Given the description of an element on the screen output the (x, y) to click on. 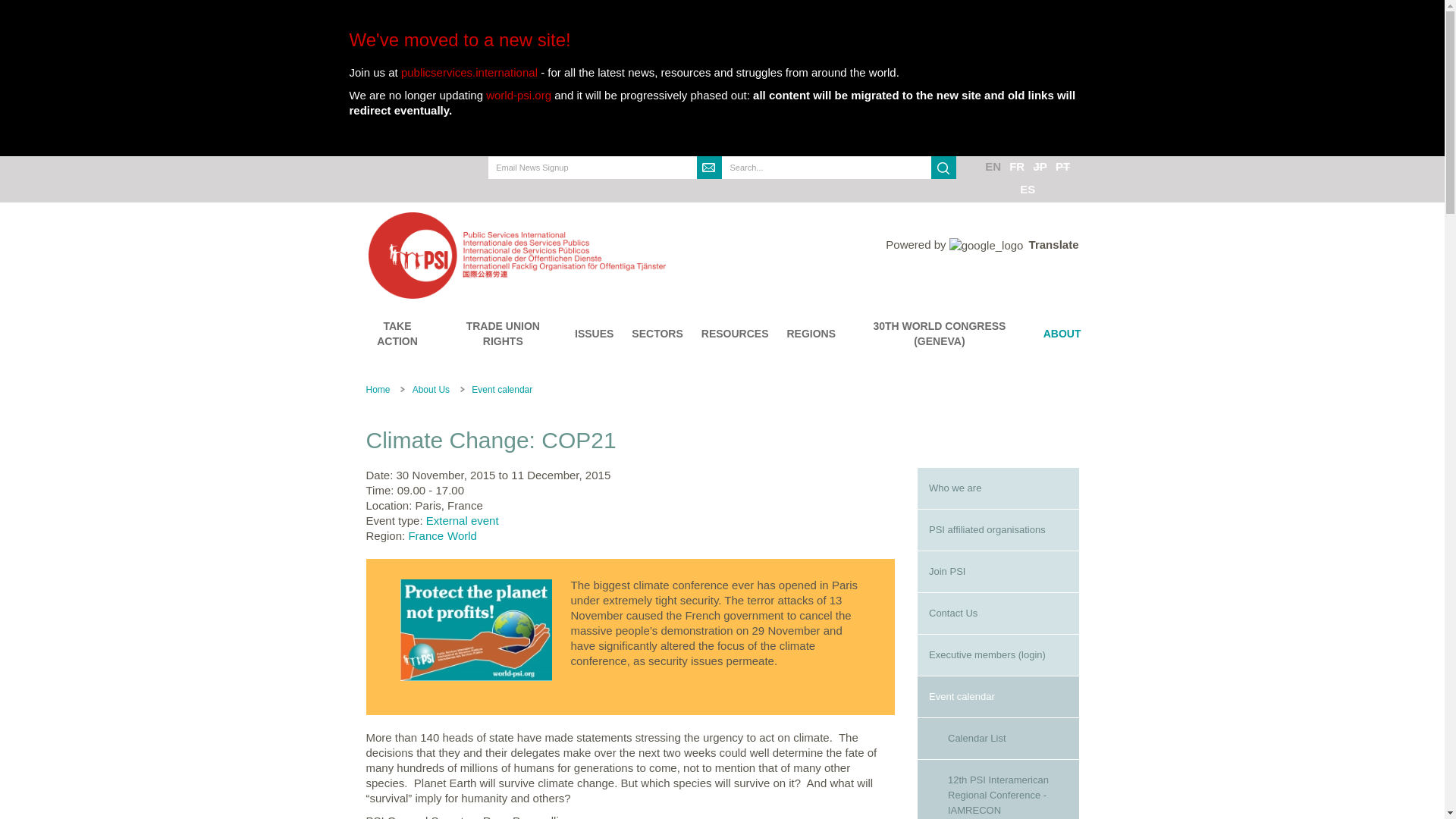
publicservices.international (469, 72)
TAKE ACTION (398, 333)
Powered by Translate (981, 244)
world-psi.org (518, 94)
Home (598, 254)
Event calendar (501, 389)
Event calendar (997, 696)
Submit (709, 167)
Enter the terms you wish to search for. (826, 167)
Search (735, 190)
Search (943, 167)
About Us (430, 389)
